Given the description of an element on the screen output the (x, y) to click on. 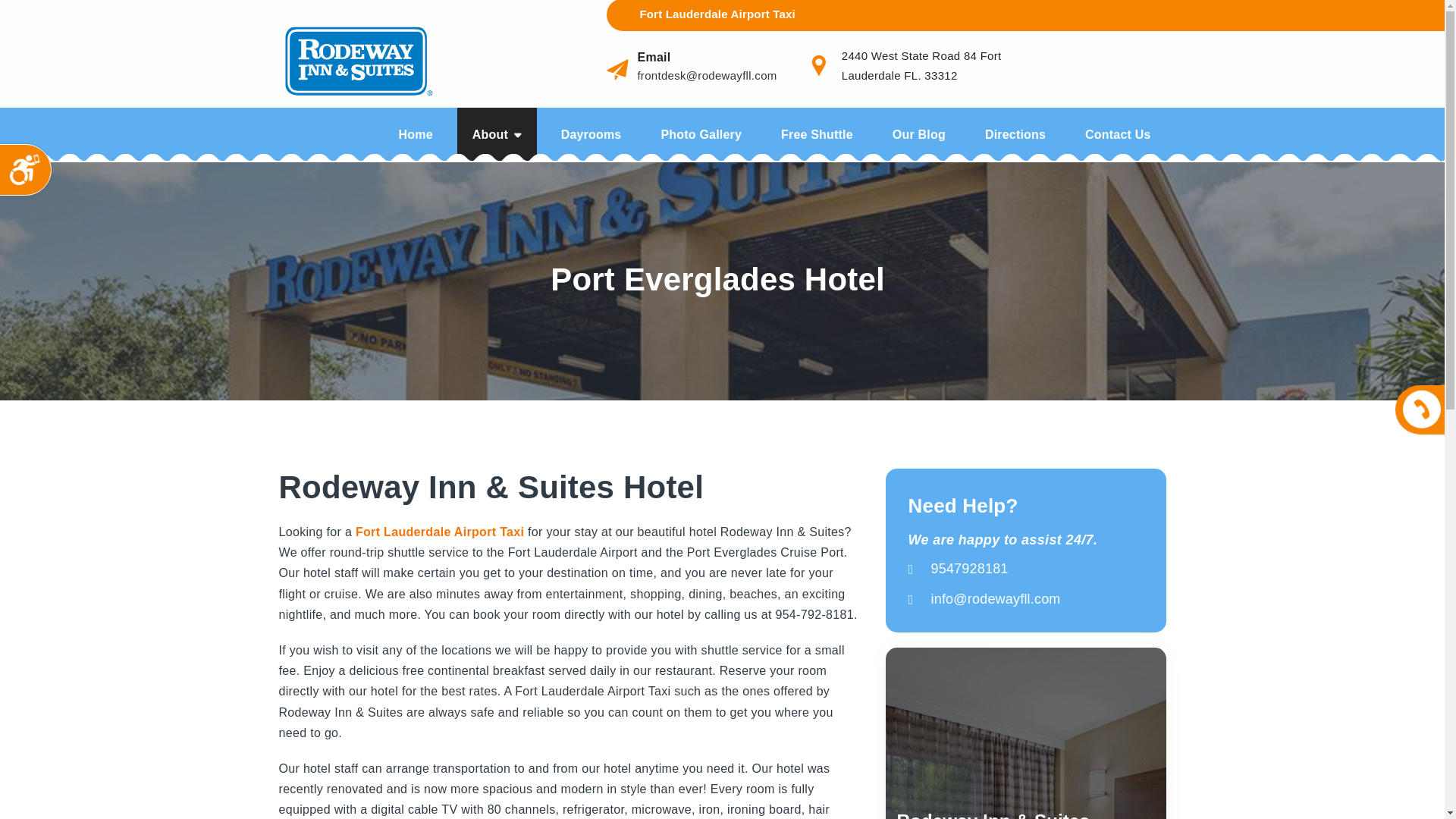
Our Blog (918, 134)
Free Shuttle (816, 134)
Home (416, 134)
Photo Gallery (701, 134)
About (497, 134)
Contact Us (1118, 134)
Dayrooms (591, 134)
Directions (1015, 134)
